Given the description of an element on the screen output the (x, y) to click on. 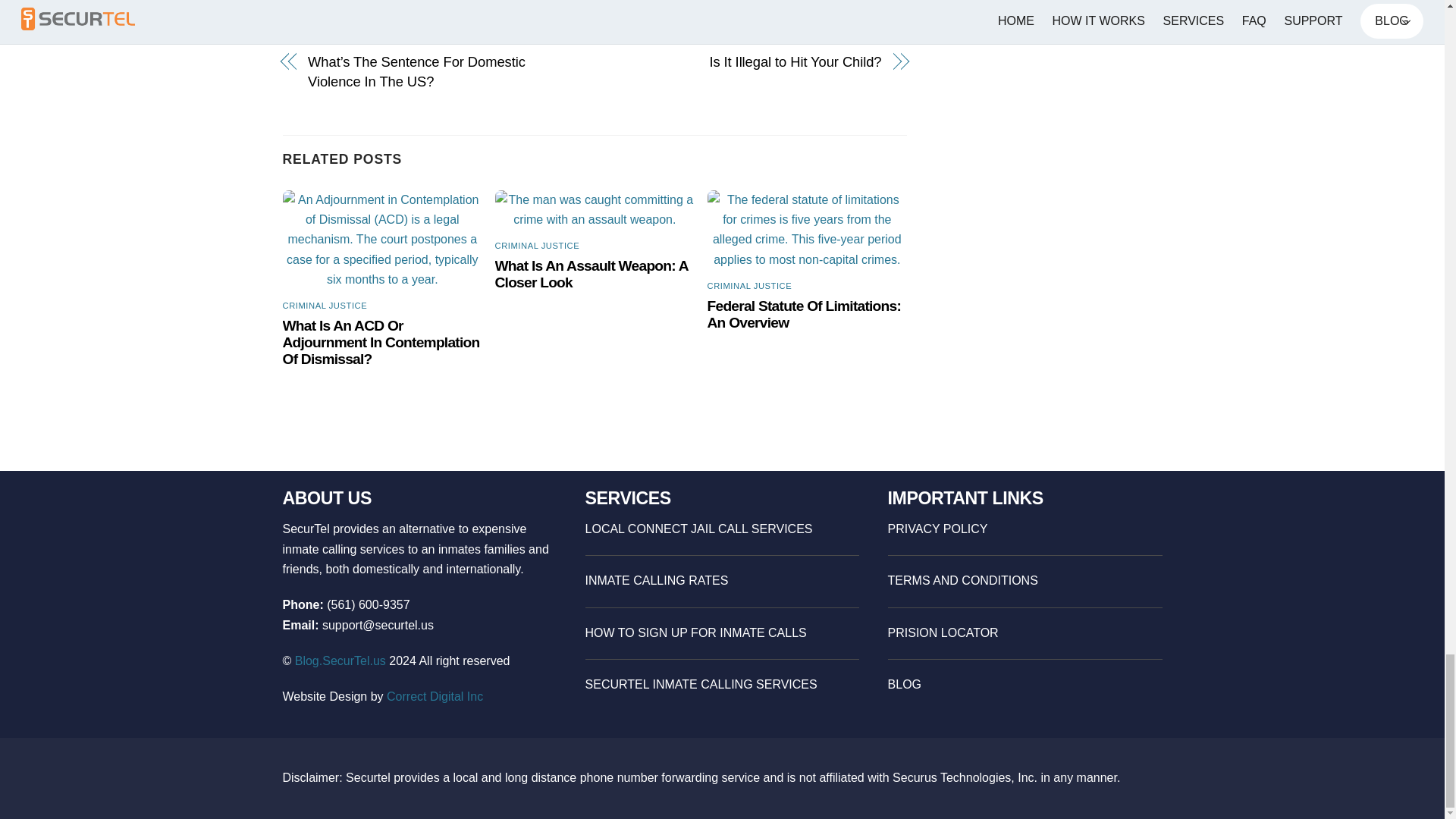
Lenard Arceo Author Image (433, 6)
Federal Statute Of Limitations: An Overview (804, 314)
CRIMINAL JUSTICE (324, 305)
What Is An ACD Or Adjournment In Contemplation Of Dismissal? (380, 341)
CRIMINAL JUSTICE (749, 285)
Is It Illegal to Hit Your Child? (746, 62)
What Is An Assault Weapon: A Closer Look (591, 273)
CRIMINAL JUSTICE (537, 245)
